Given the description of an element on the screen output the (x, y) to click on. 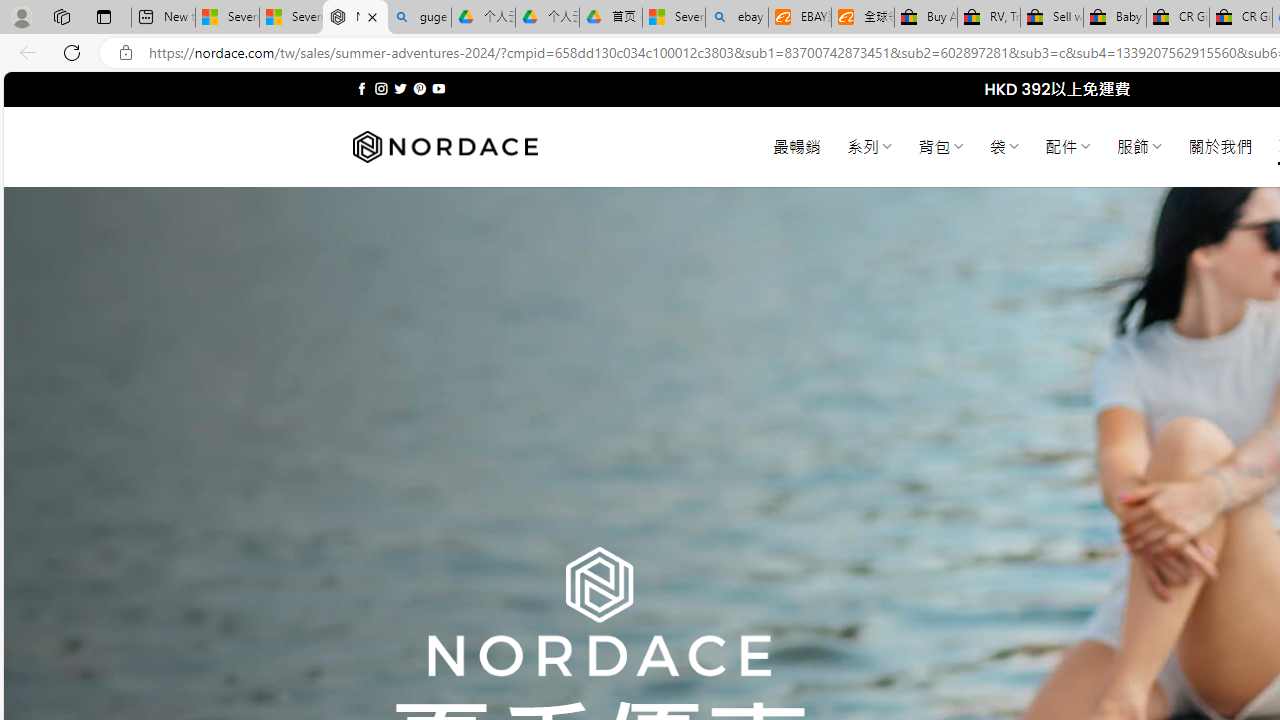
Follow on Pinterest (419, 88)
Follow on Facebook (361, 88)
Follow on YouTube (438, 88)
